Given the description of an element on the screen output the (x, y) to click on. 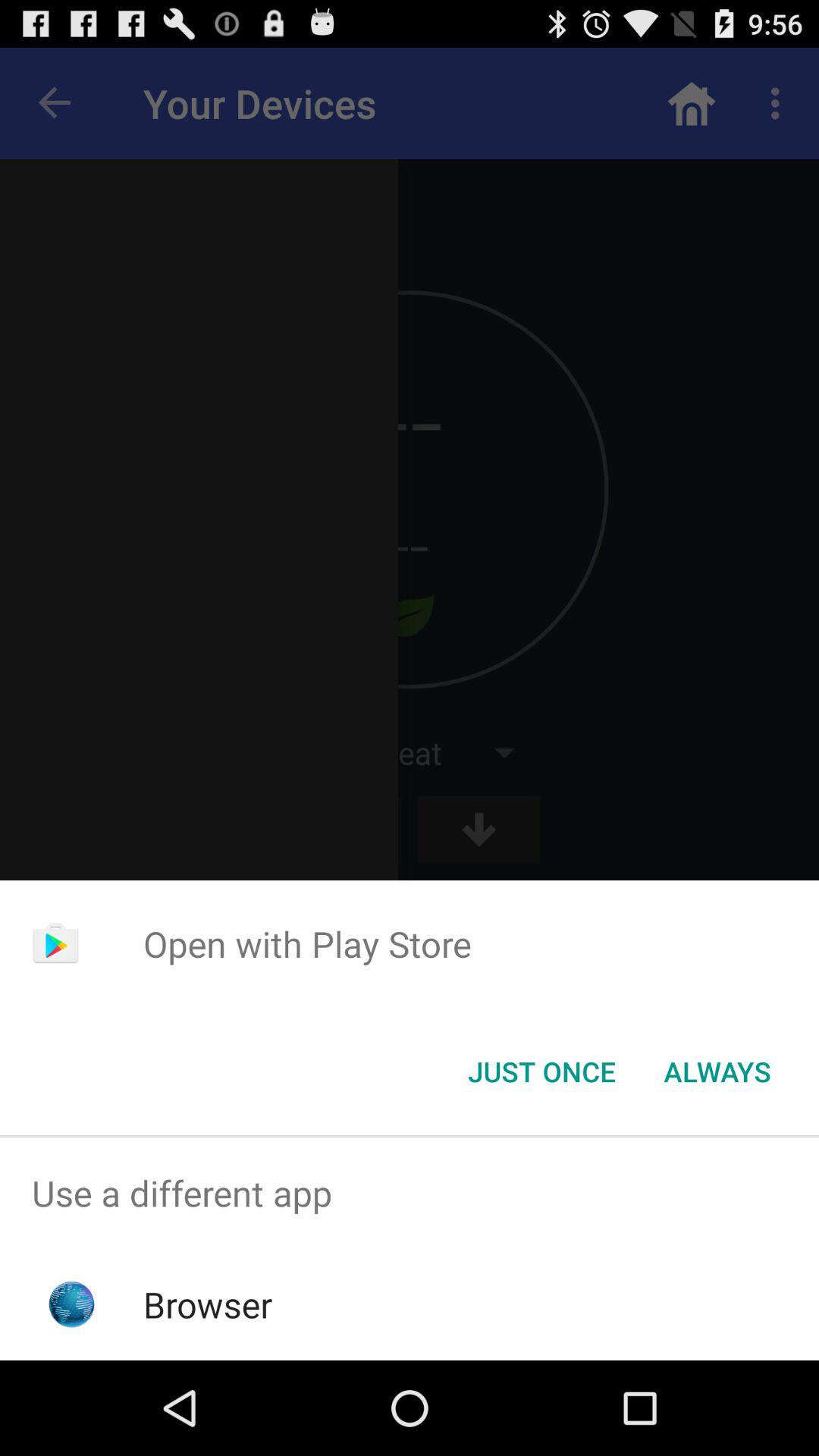
launch the app above browser app (409, 1192)
